Given the description of an element on the screen output the (x, y) to click on. 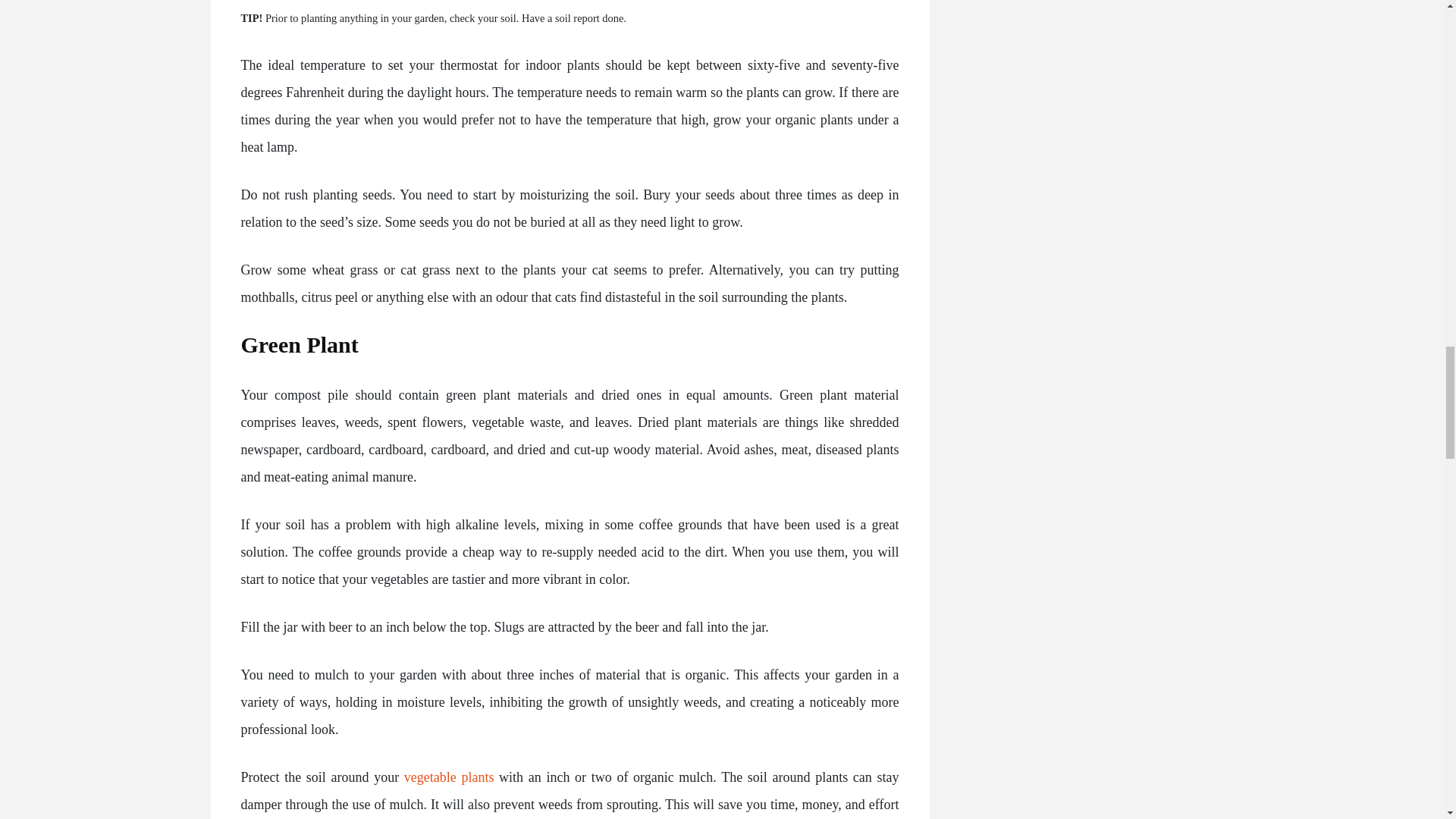
vegetable plants (449, 776)
